Given the description of an element on the screen output the (x, y) to click on. 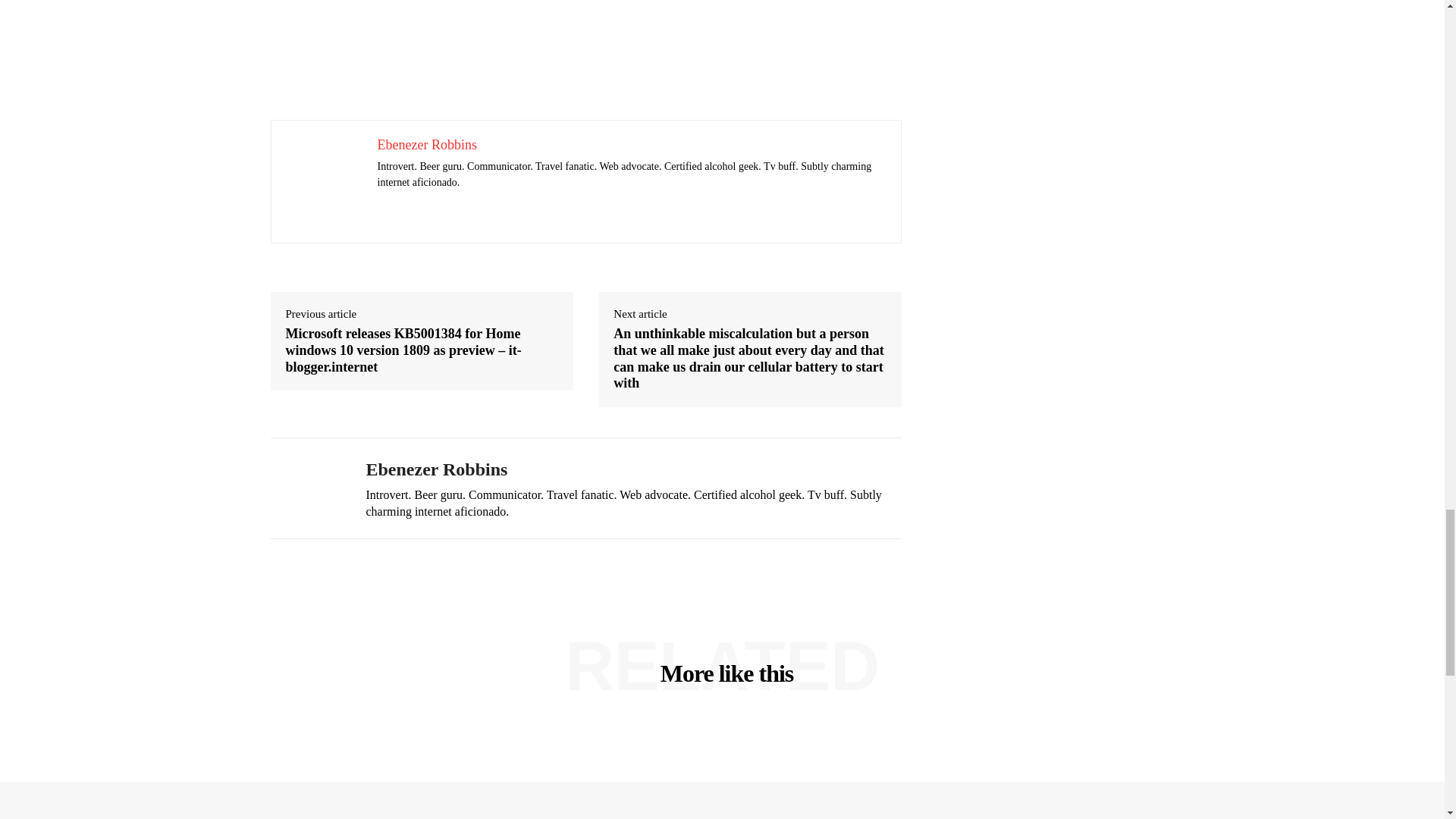
Ebenezer Robbins (305, 488)
